Given the description of an element on the screen output the (x, y) to click on. 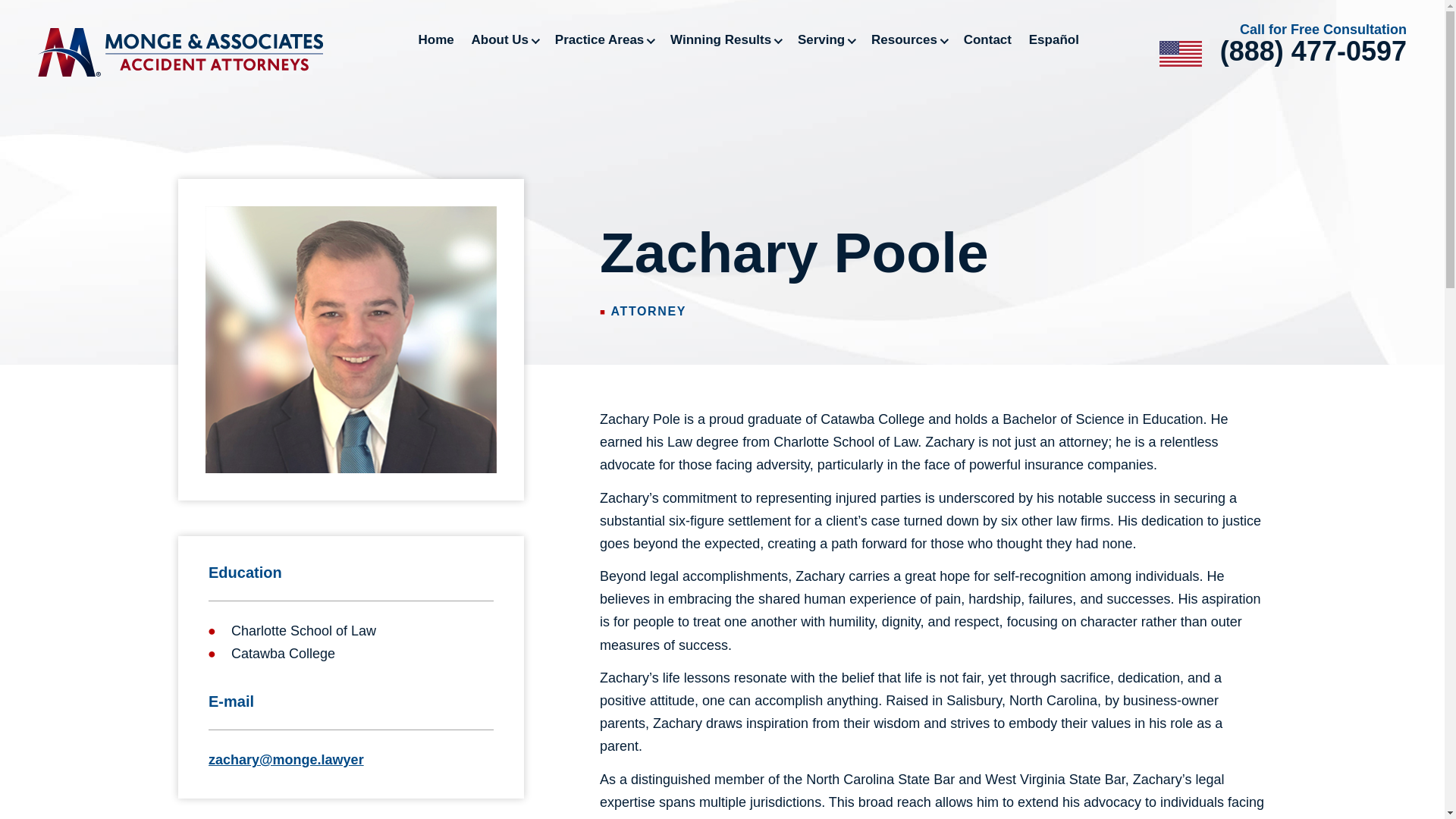
Serving (825, 39)
Phone (1313, 51)
Winning Results (724, 39)
About Us (504, 39)
Practice Areas (603, 39)
Home (436, 39)
